Given the description of an element on the screen output the (x, y) to click on. 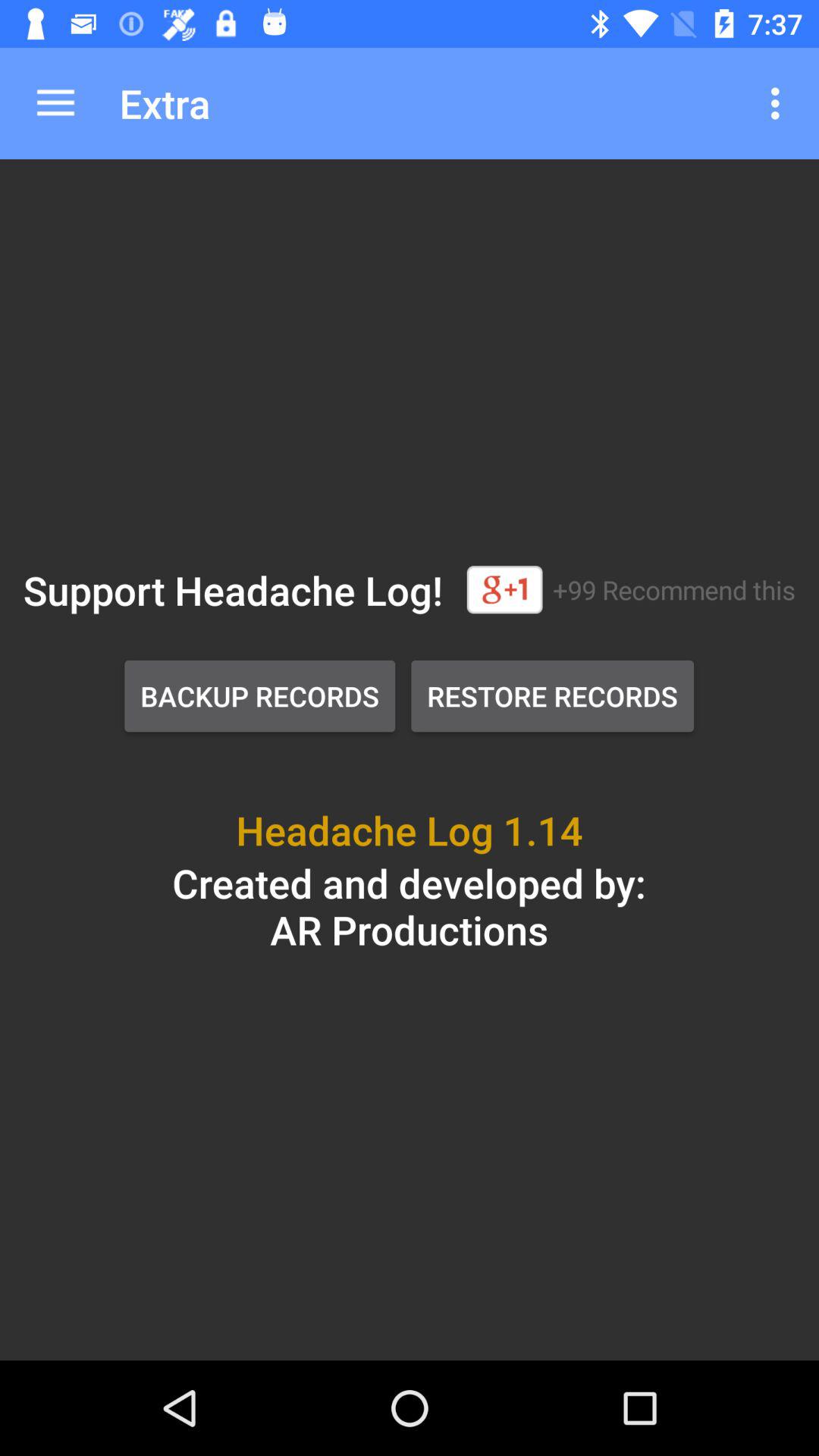
flip to restore records button (552, 695)
